Given the description of an element on the screen output the (x, y) to click on. 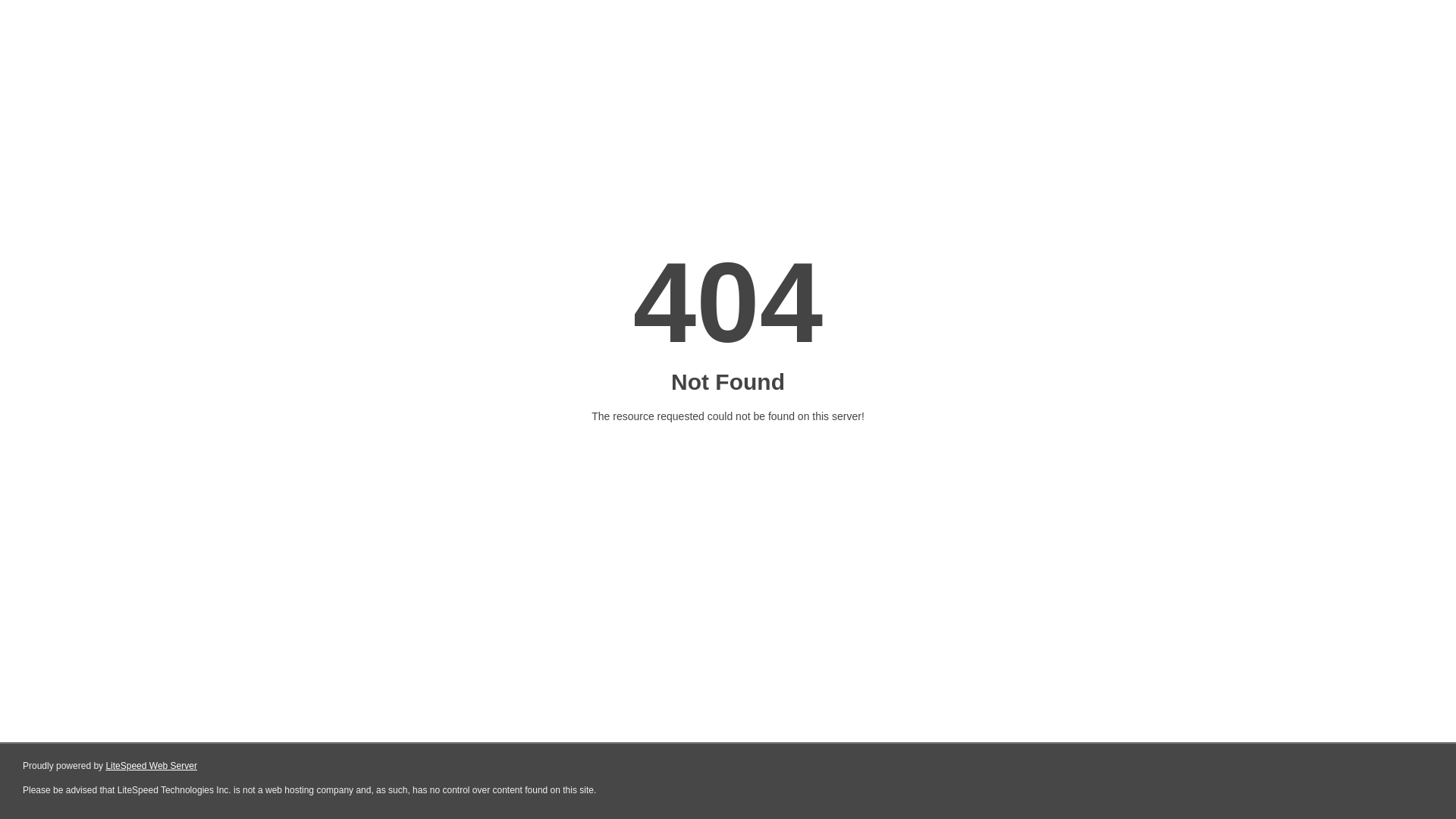
LiteSpeed Web Server Element type: text (151, 765)
